Given the description of an element on the screen output the (x, y) to click on. 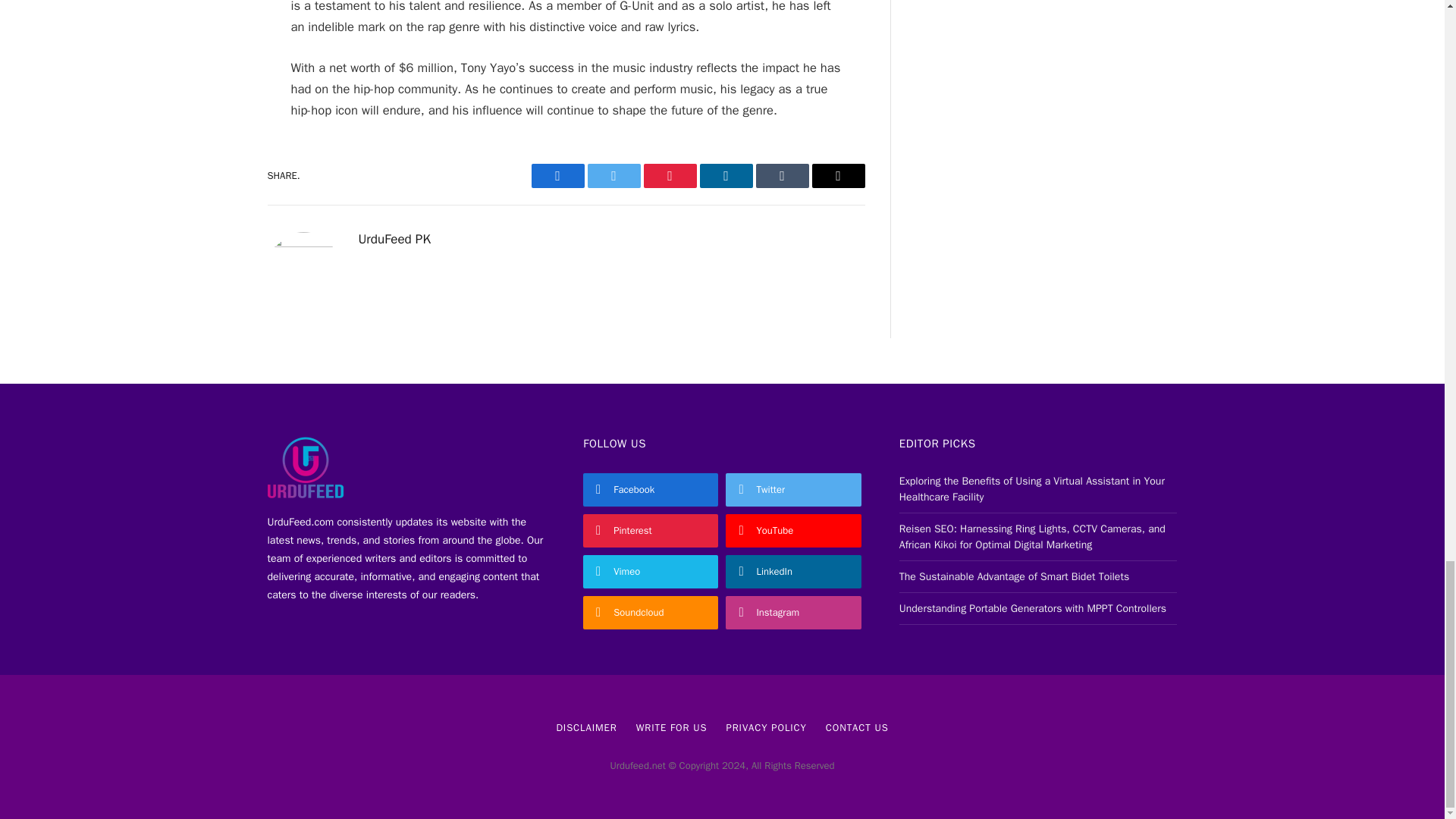
Facebook (557, 175)
Pinterest (669, 175)
Tumblr (781, 175)
Email (837, 175)
Twitter (613, 175)
UrduFeed PK (393, 239)
LinkedIn (725, 175)
